Given the description of an element on the screen output the (x, y) to click on. 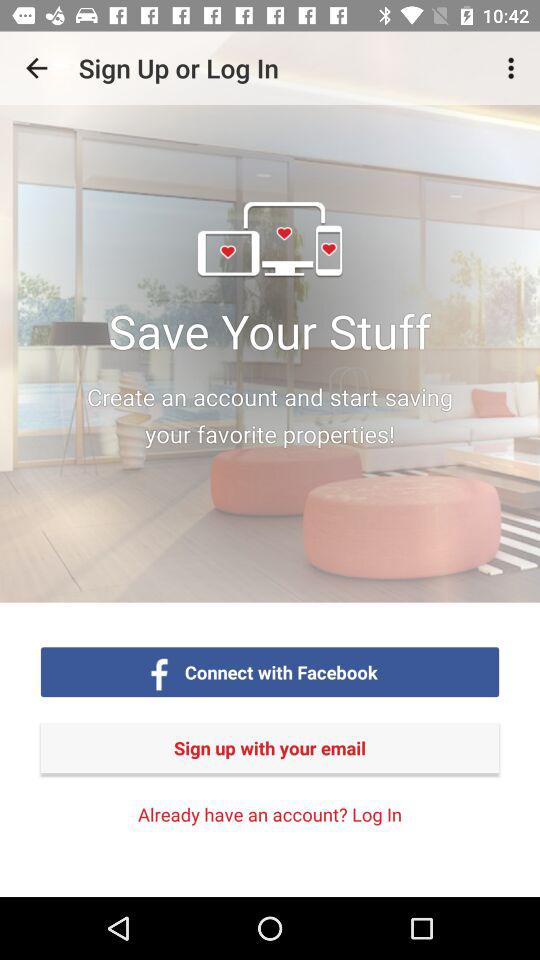
press app next to the sign up or icon (36, 68)
